Given the description of an element on the screen output the (x, y) to click on. 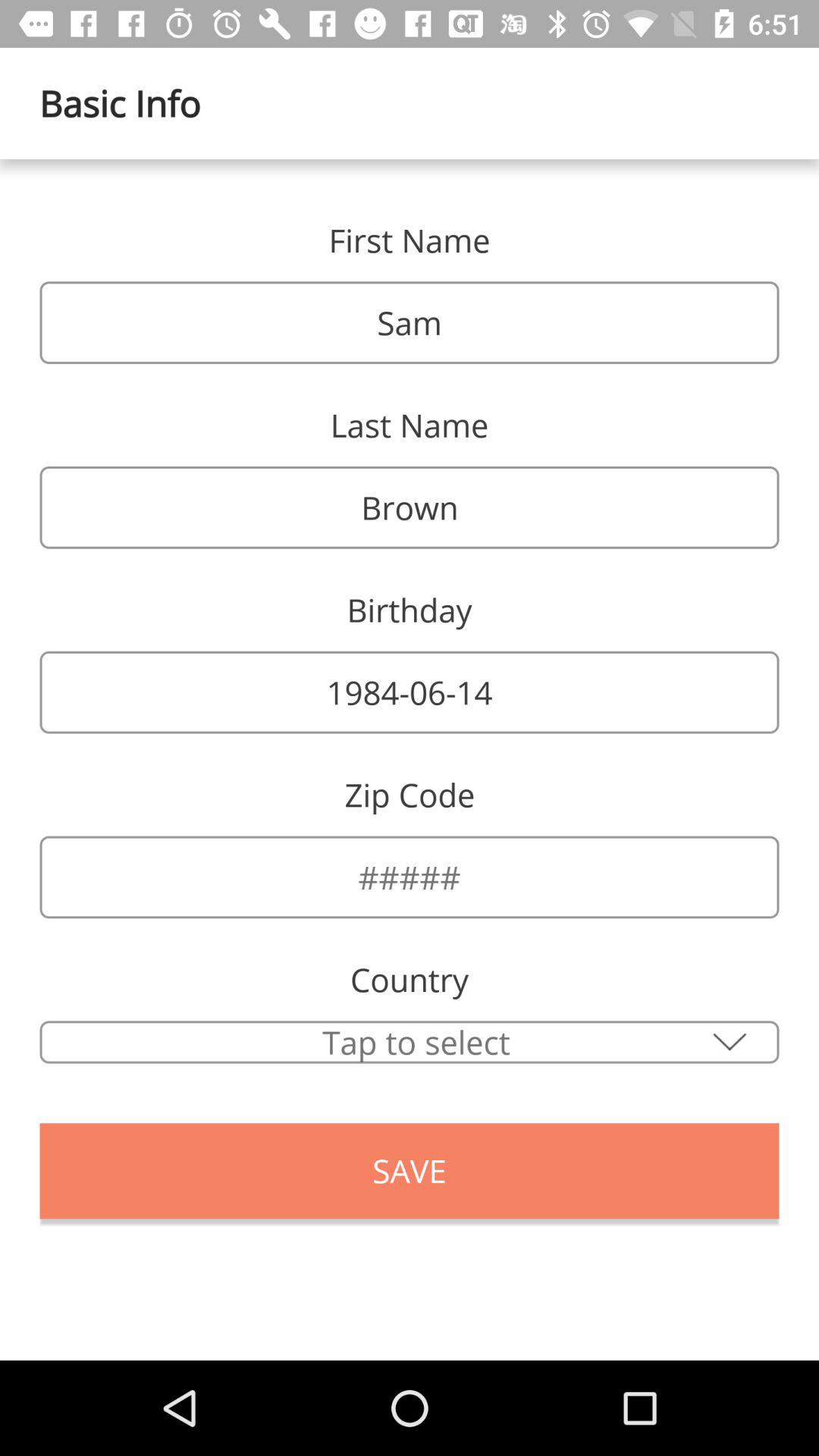
type in zip code (409, 877)
